Given the description of an element on the screen output the (x, y) to click on. 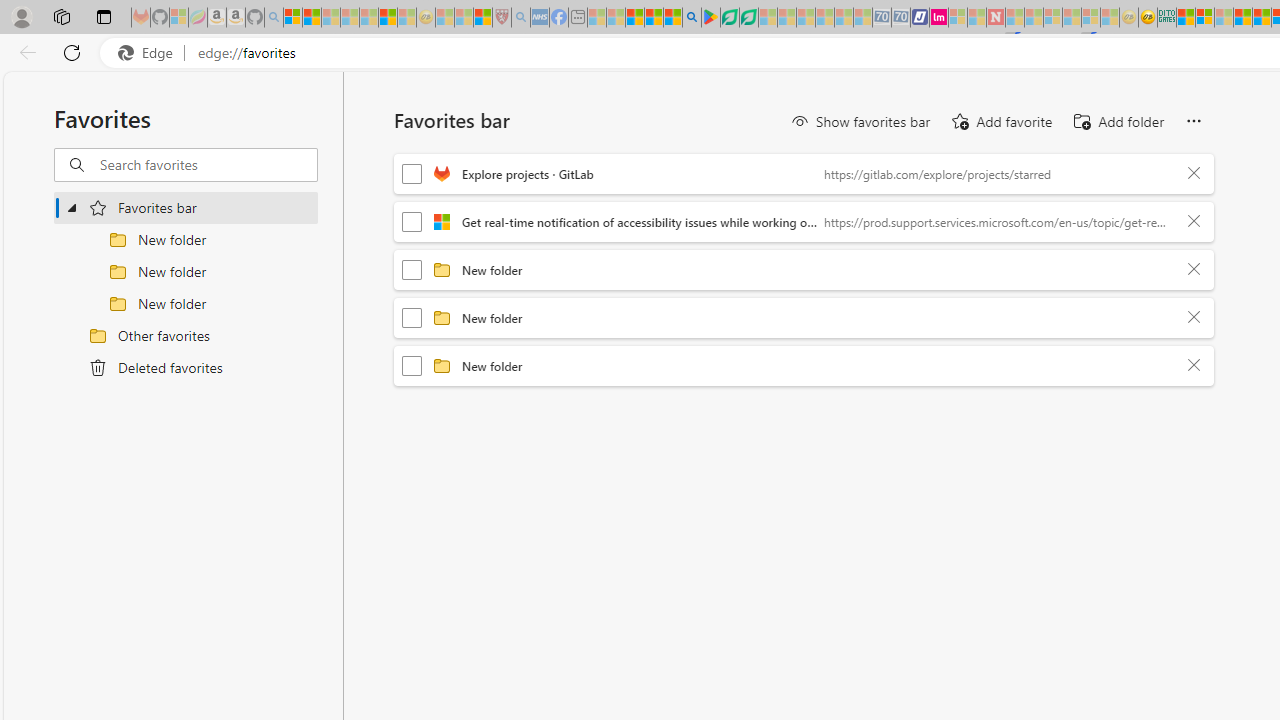
DITOGAMES AG Imprint (1167, 17)
Bluey: Let's Play! - Apps on Google Play (710, 17)
Microsoft-Report a Concern to Bing - Sleeping (179, 17)
Latest Politics News & Archive | Newsweek.com - Sleeping (995, 17)
Robert H. Shmerling, MD - Harvard Health - Sleeping (501, 17)
Edge (150, 53)
FolderNew folder (803, 365)
